Given the description of an element on the screen output the (x, y) to click on. 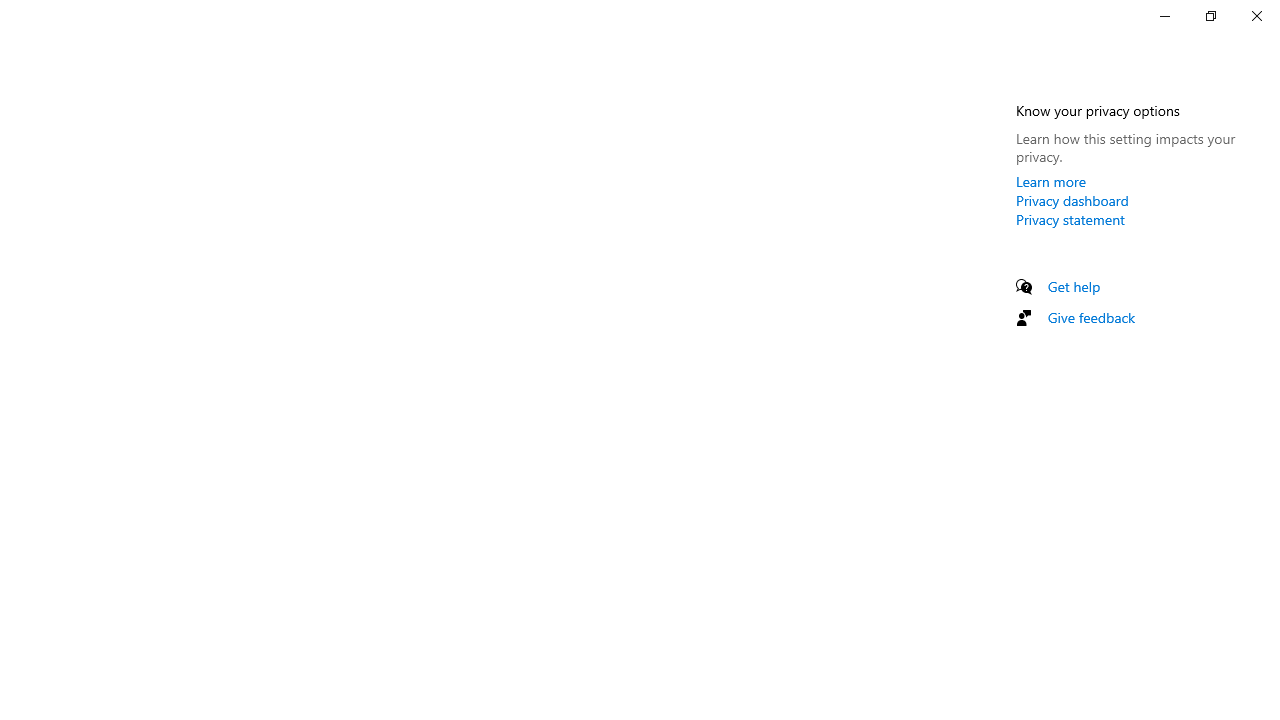
Privacy statement (1070, 219)
Get help (1074, 286)
Minimize Settings (1164, 15)
Restore Settings (1210, 15)
Learn more (1051, 181)
Give feedback (1091, 317)
Close Settings (1256, 15)
Privacy dashboard (1072, 200)
